Given the description of an element on the screen output the (x, y) to click on. 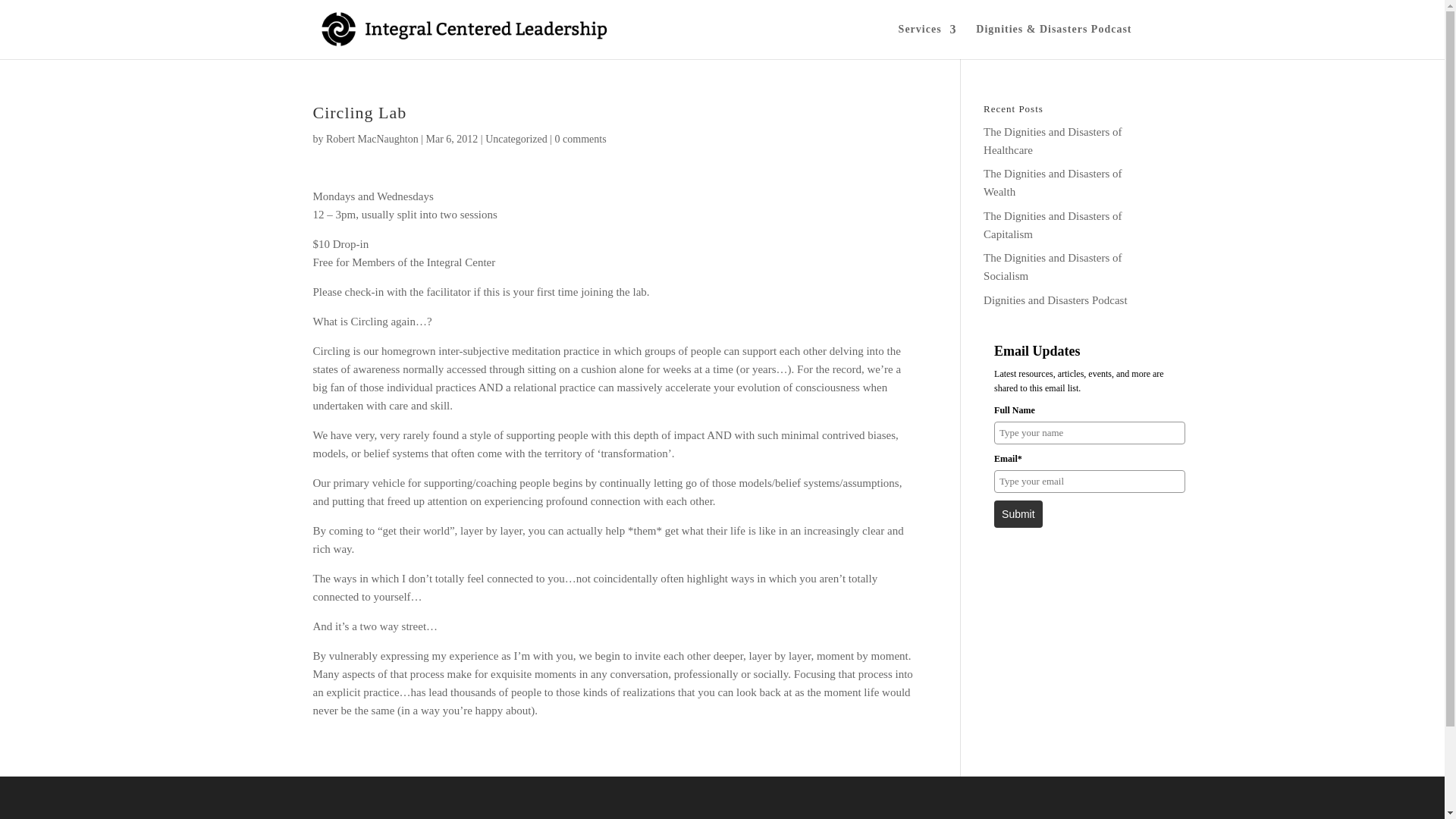
The Dignities and Disasters of Wealth (1052, 182)
The Dignities and Disasters of Healthcare (1052, 141)
0 comments (580, 138)
Dignities and Disasters Podcast (1055, 300)
The Dignities and Disasters of Capitalism (1052, 224)
Robert MacNaughton (372, 138)
Services (927, 41)
Submit (1018, 513)
Posts by Robert MacNaughton (372, 138)
Uncategorized (515, 138)
The Dignities and Disasters of Socialism (1052, 266)
